Given the description of an element on the screen output the (x, y) to click on. 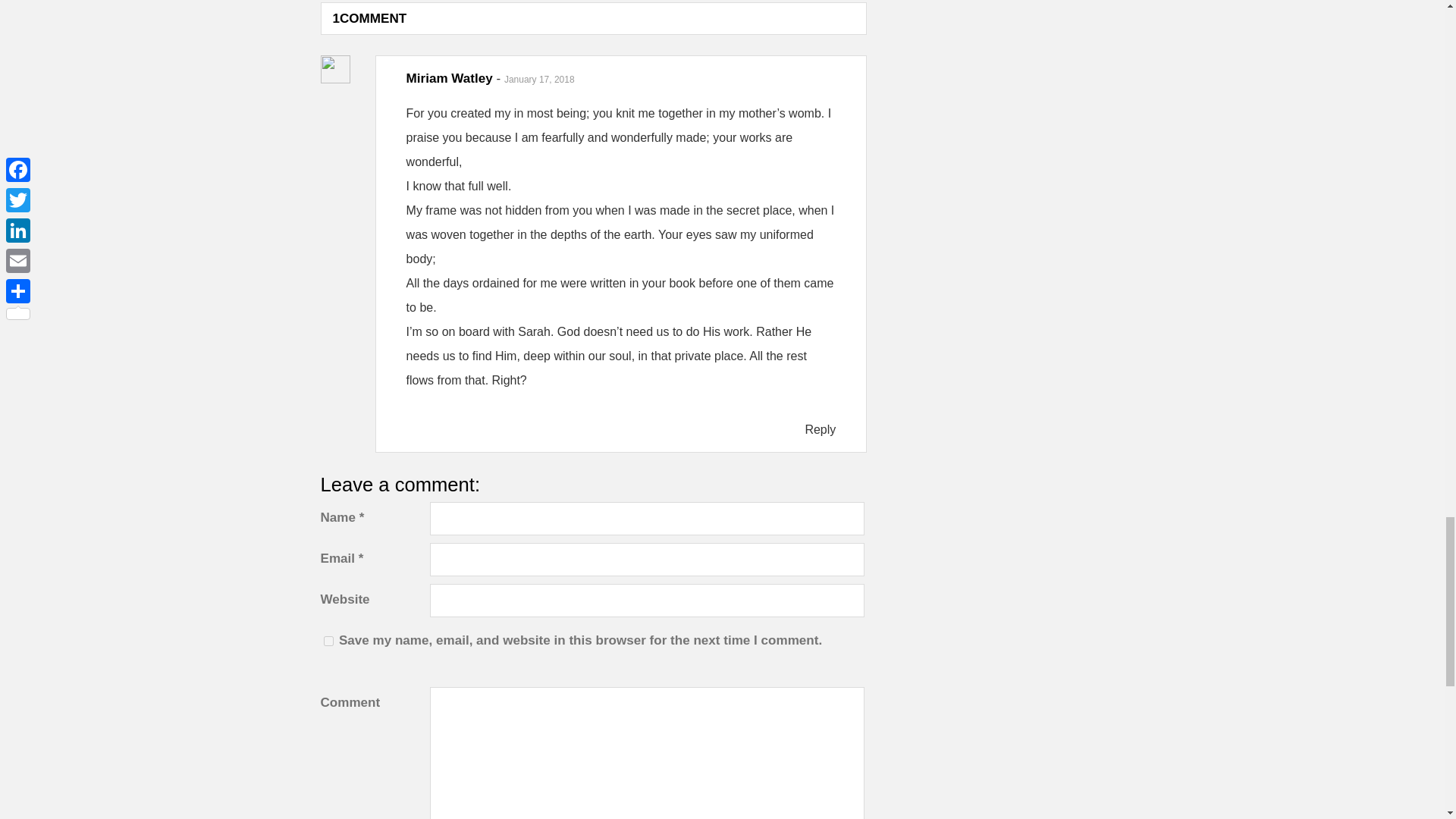
yes (328, 641)
Reply (820, 429)
